Given the description of an element on the screen output the (x, y) to click on. 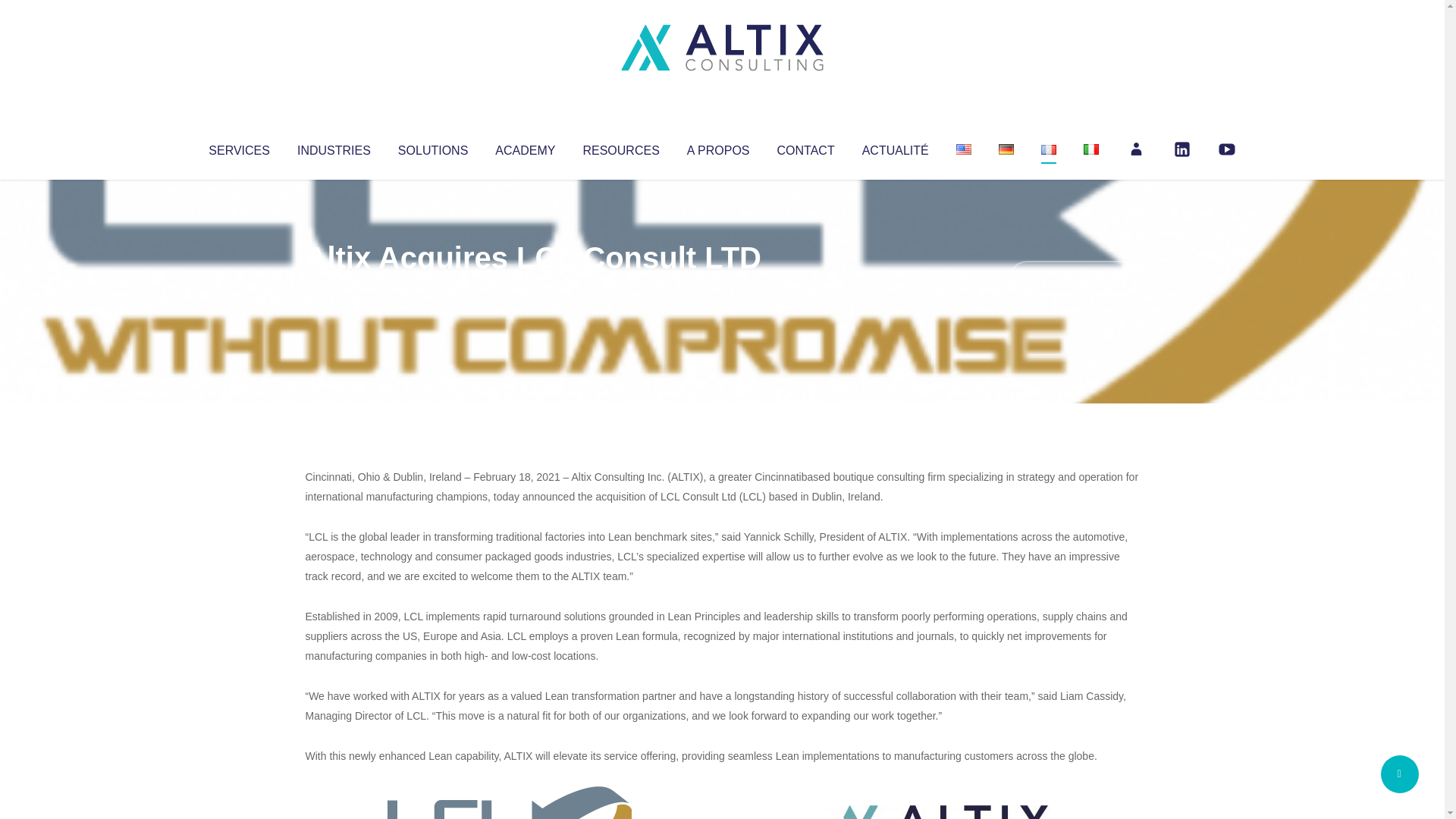
RESOURCES (620, 146)
SOLUTIONS (432, 146)
INDUSTRIES (334, 146)
ACADEMY (524, 146)
A PROPOS (718, 146)
Altix (333, 287)
Uncategorized (530, 287)
SERVICES (238, 146)
Articles par Altix (333, 287)
No Comments (1073, 278)
